Given the description of an element on the screen output the (x, y) to click on. 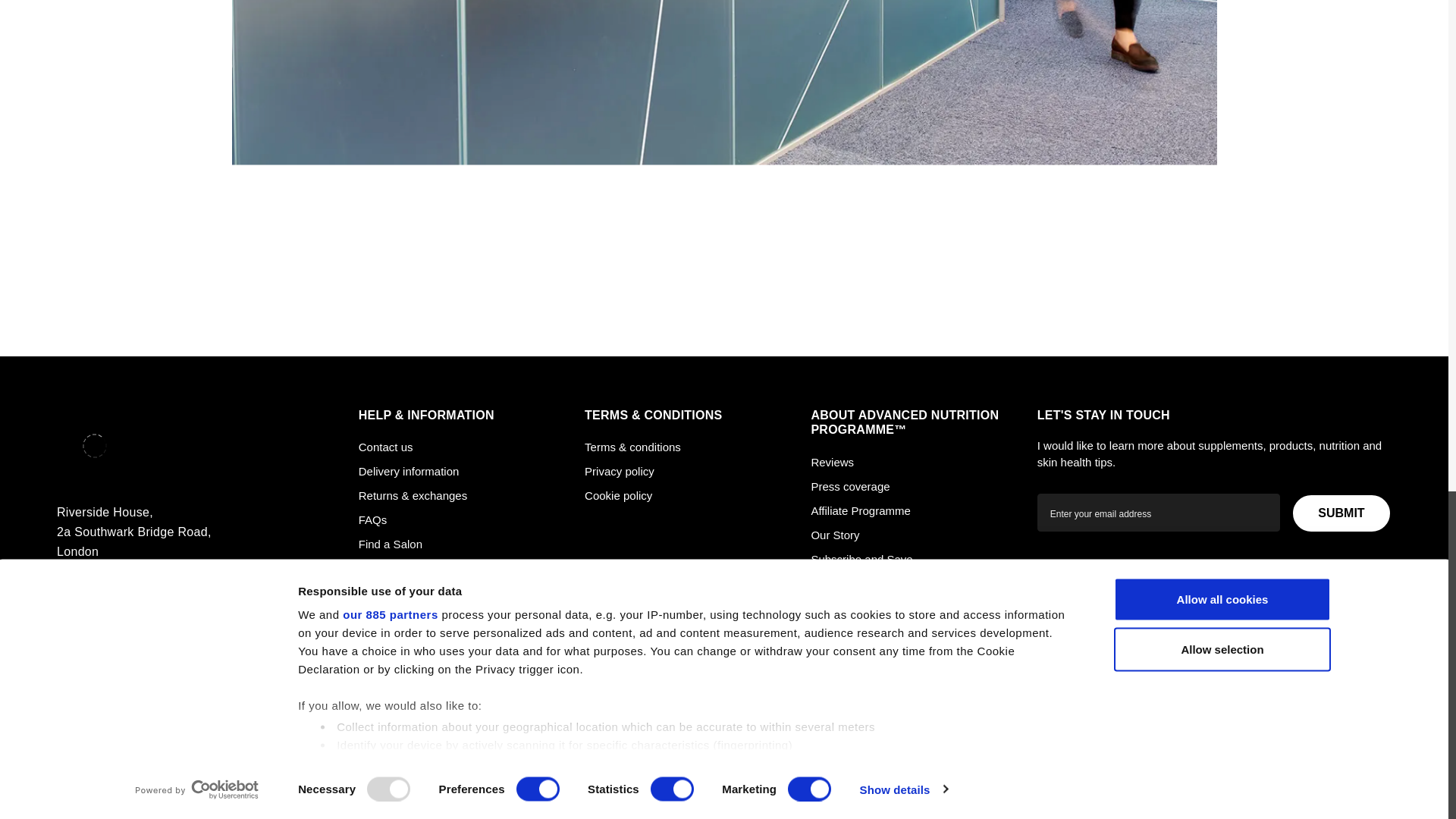
Submit (1341, 513)
